Given the description of an element on the screen output the (x, y) to click on. 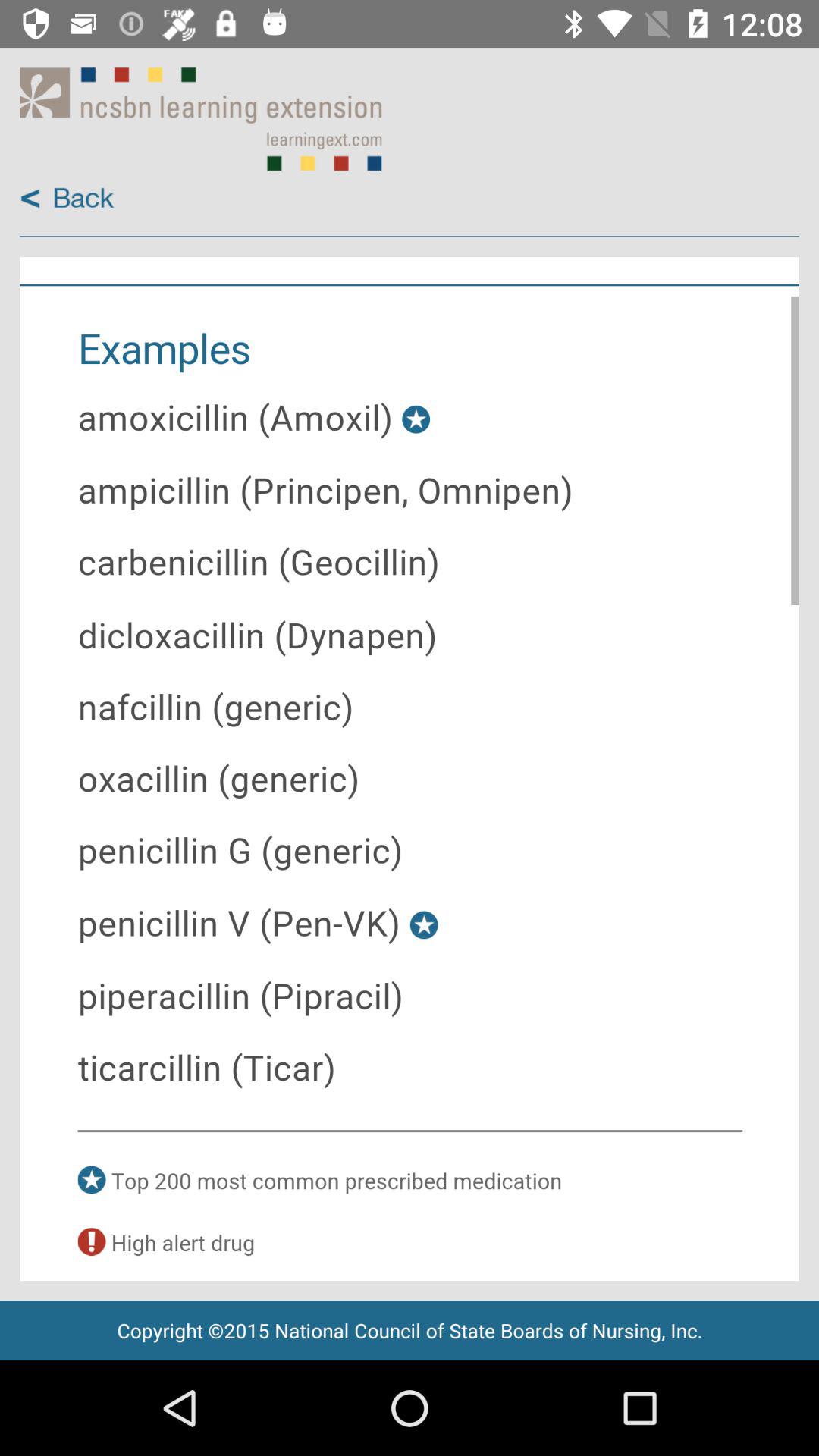
go to back (66, 198)
